Given the description of an element on the screen output the (x, y) to click on. 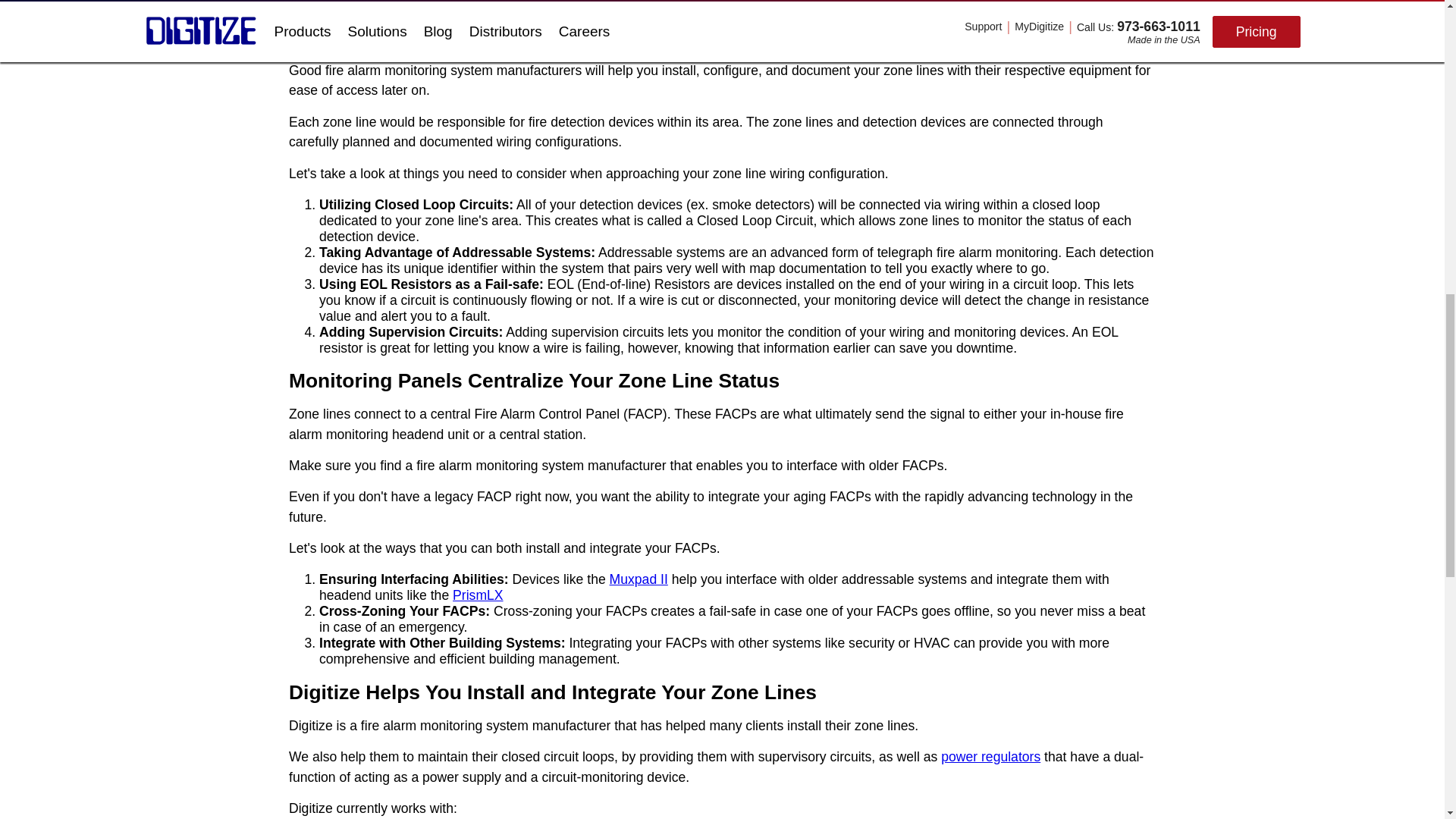
power regulators (990, 756)
PrismLX (477, 595)
Muxpad II (639, 579)
